Given the description of an element on the screen output the (x, y) to click on. 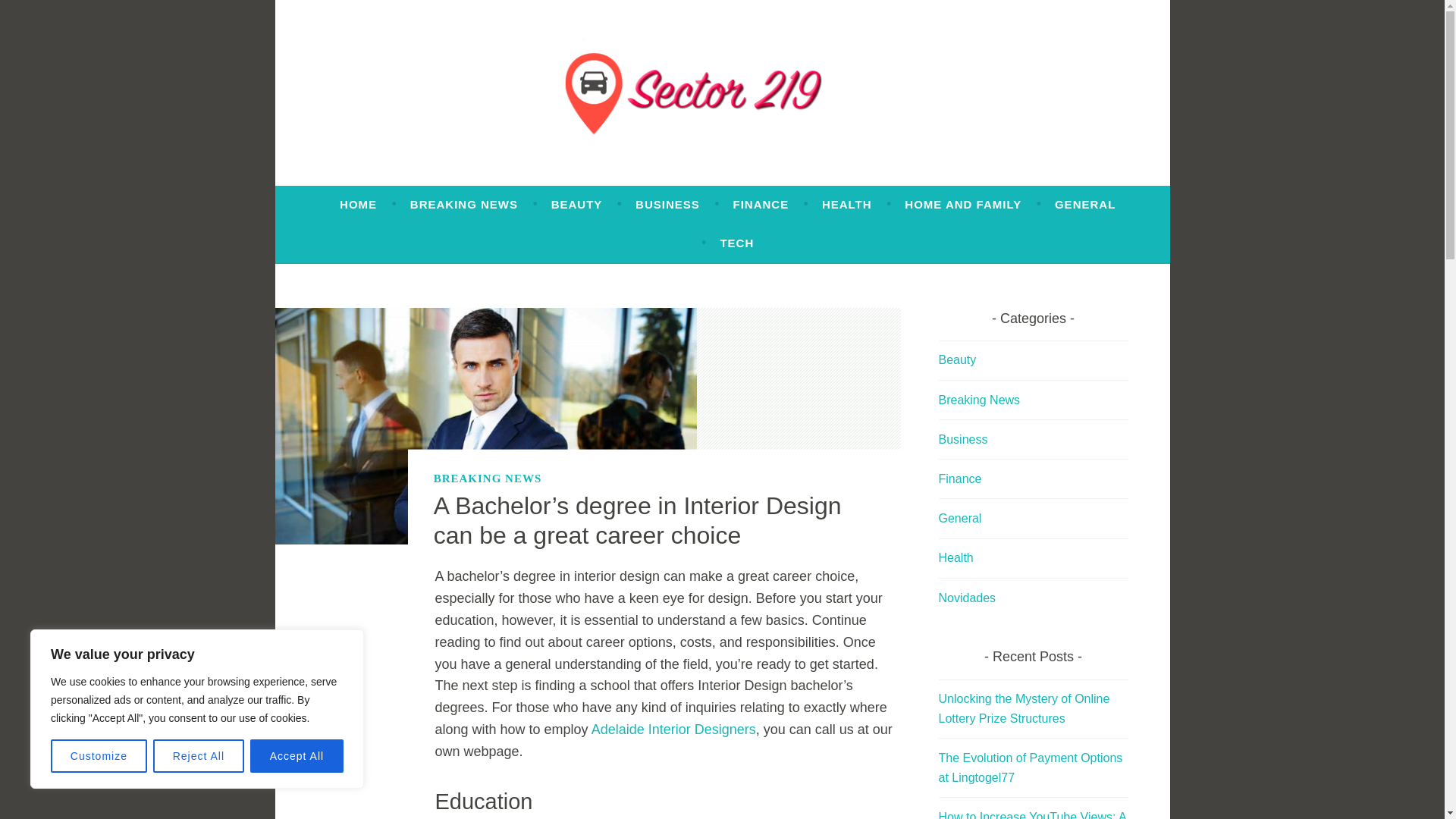
Adelaide Interior Designers (673, 729)
Reject All (198, 756)
Beauty (957, 359)
FINANCE (760, 204)
HOME AND FAMILY (963, 204)
Accept All (296, 756)
BREAKING NEWS (487, 478)
Sector 219 (393, 178)
BREAKING NEWS (464, 204)
GENERAL (1084, 204)
